Given the description of an element on the screen output the (x, y) to click on. 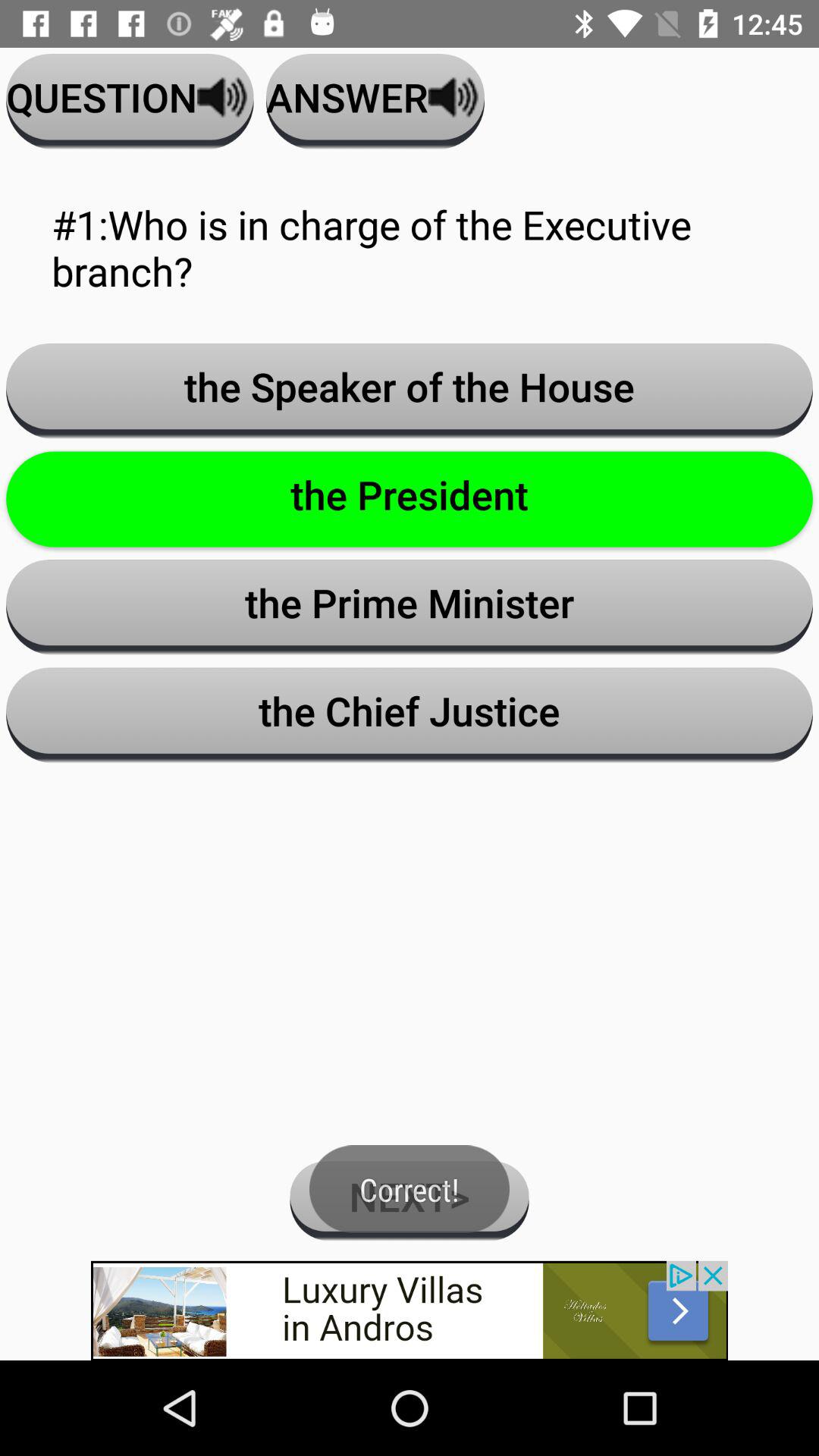
open advertisement (409, 1310)
